Given the description of an element on the screen output the (x, y) to click on. 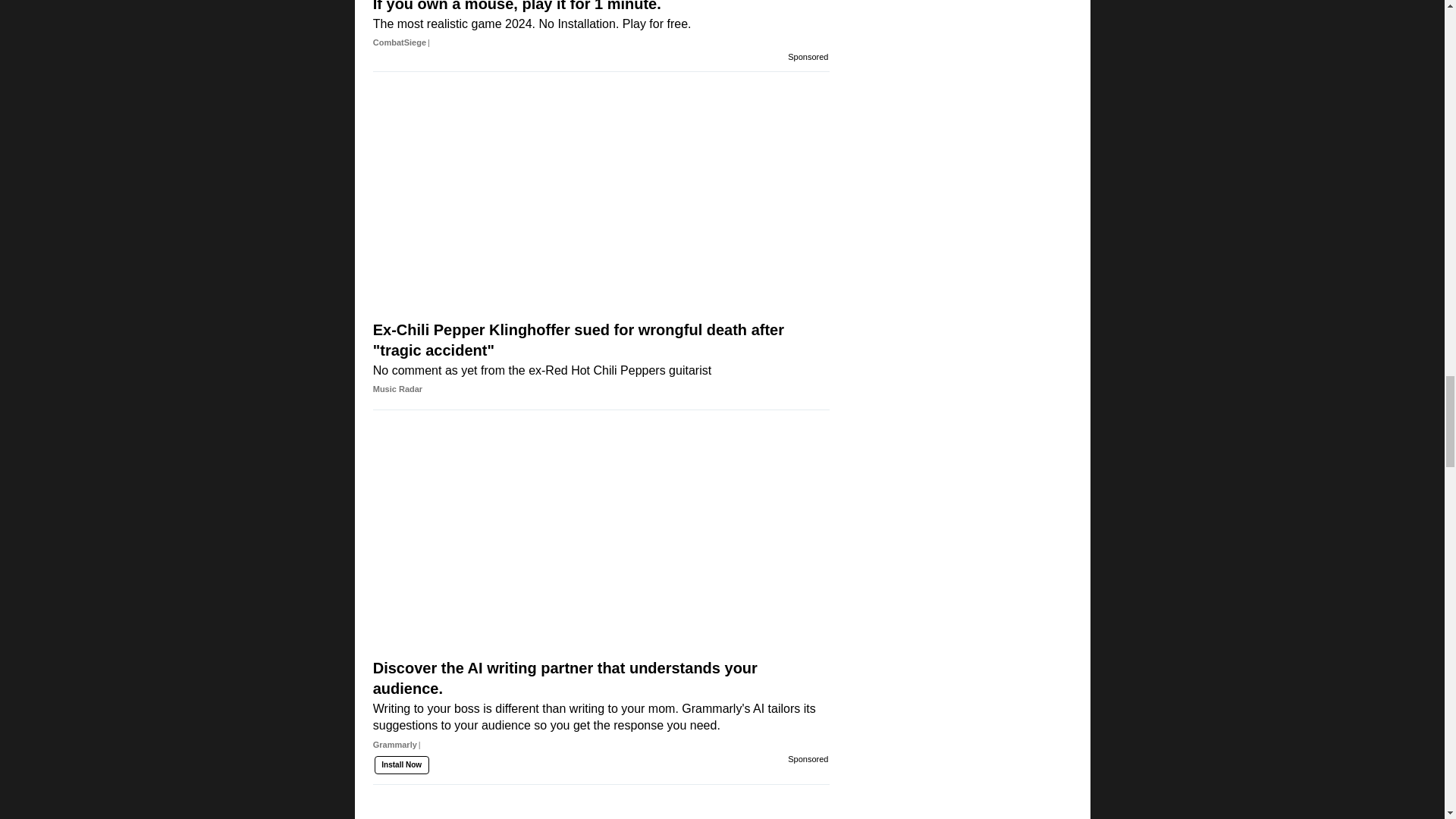
If you own a mouse, play it for 1 minute. (600, 12)
